Given the description of an element on the screen output the (x, y) to click on. 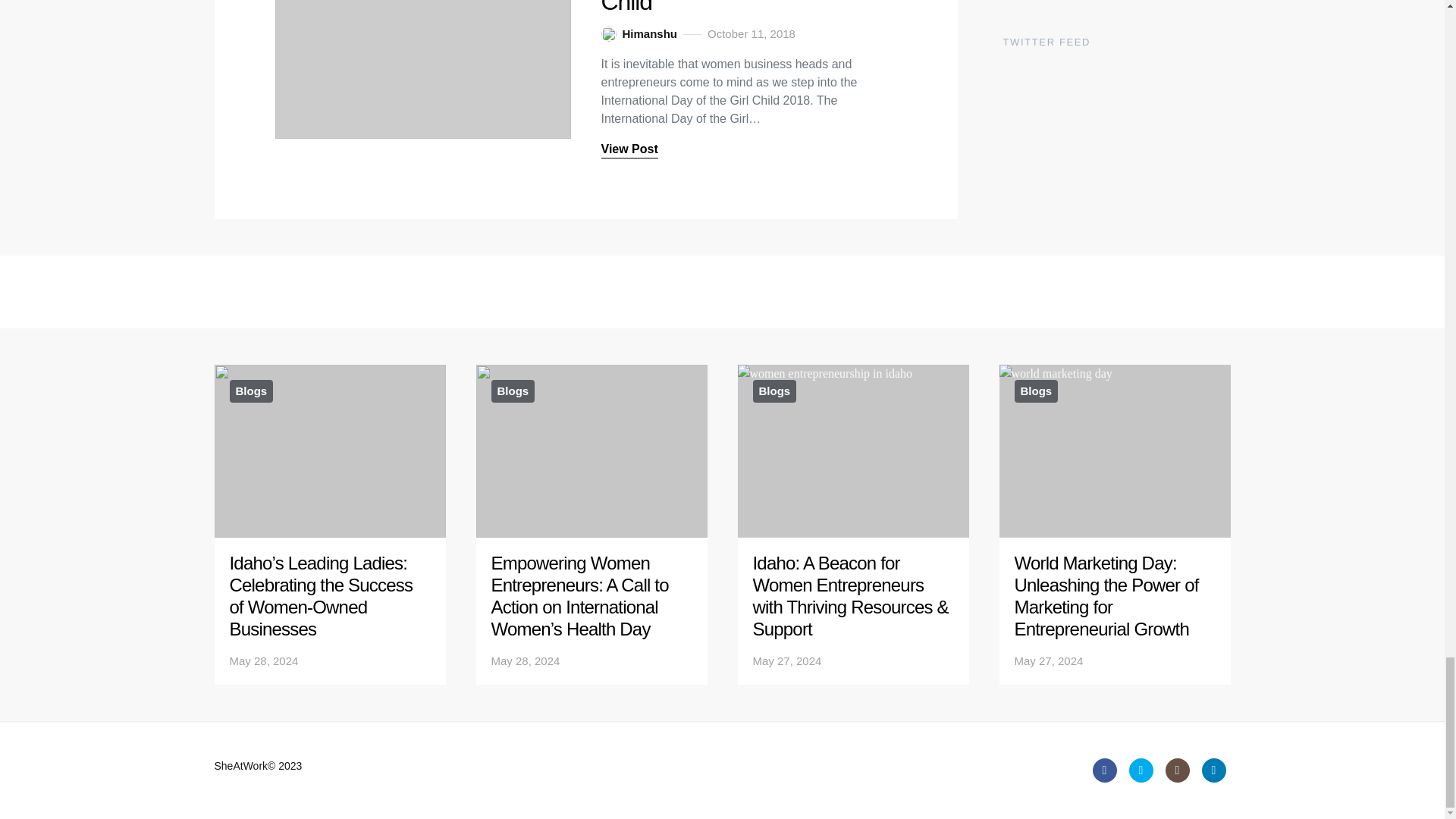
View all posts by Himanshu (638, 34)
